Given the description of an element on the screen output the (x, y) to click on. 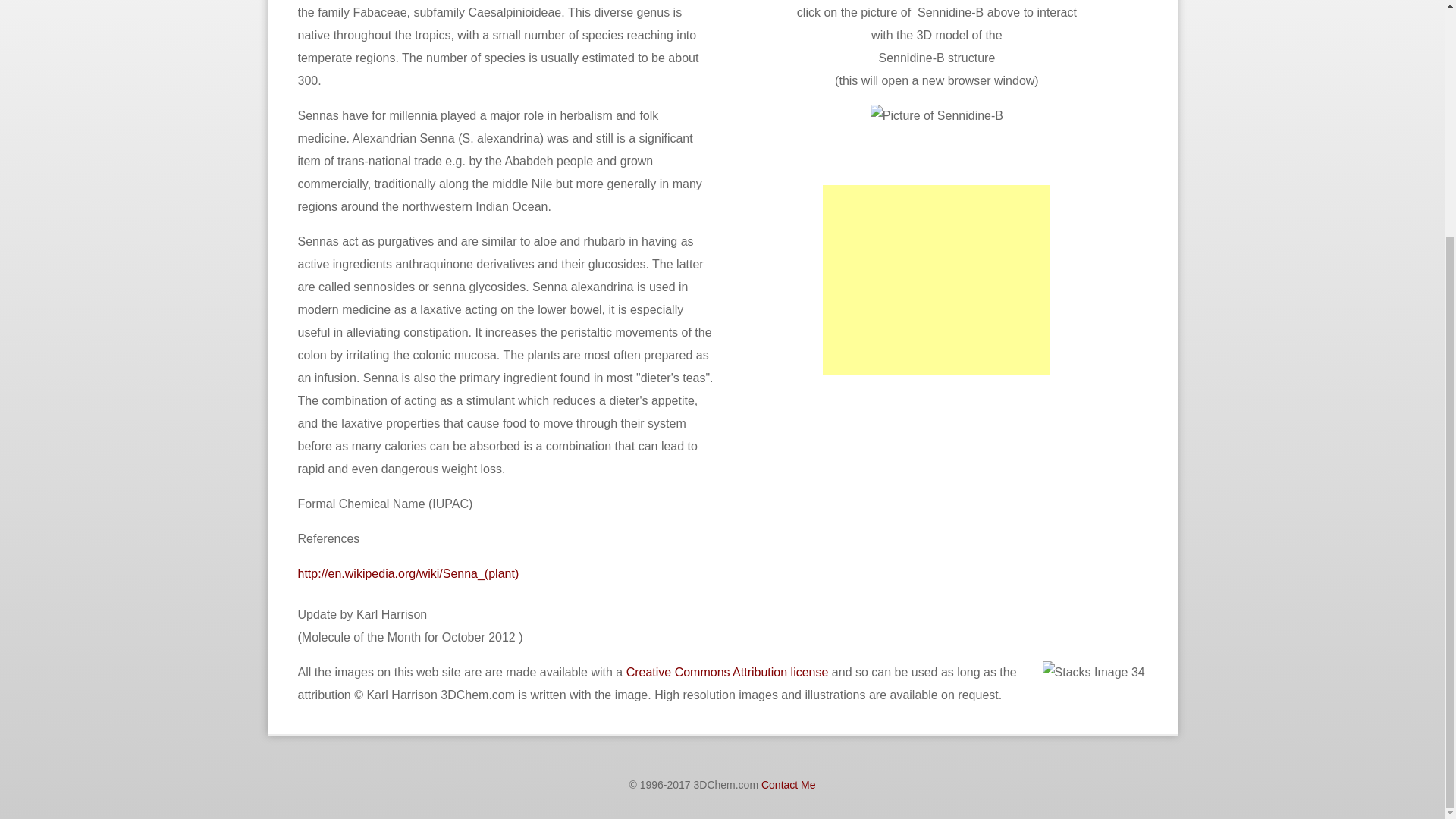
Creative Commons Attribution license (727, 671)
Contact Me (788, 784)
Advertisement (842, 488)
